Given the description of an element on the screen output the (x, y) to click on. 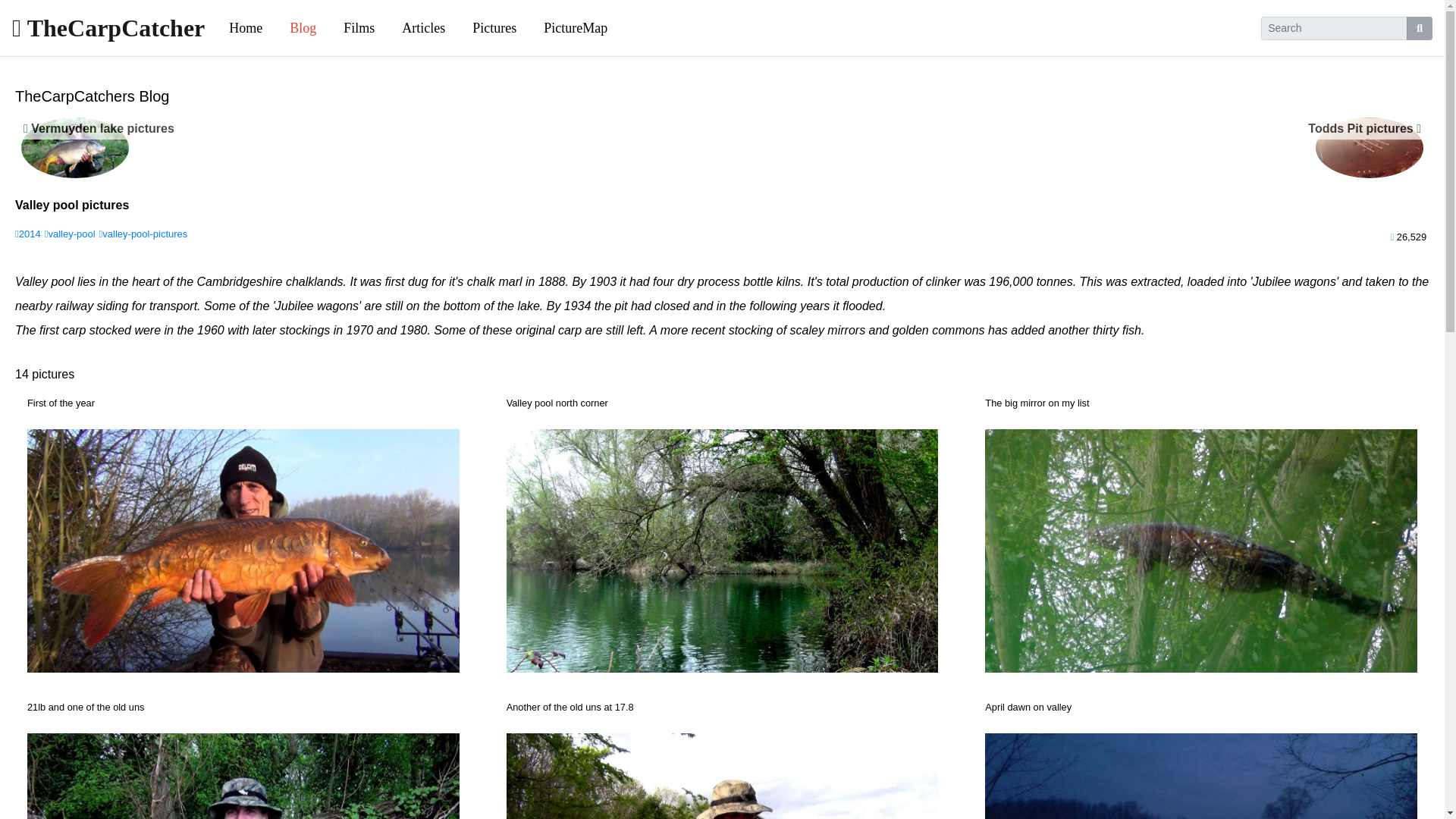
Everything in pictures! (575, 28)
Films (359, 28)
Search TheCarpCatcher's blog (1333, 28)
Wotcha! (108, 27)
View all posts for valley-pool (70, 233)
Articles (423, 28)
Home page (245, 28)
Pictures (494, 28)
Blog (303, 28)
2014 (27, 233)
Films from the last 17 years blogging (359, 28)
valley-pool (70, 233)
Pictures spanning 44 years of carp fishing (494, 28)
Articles, longer posts (423, 28)
PictureMap (575, 28)
